Given the description of an element on the screen output the (x, y) to click on. 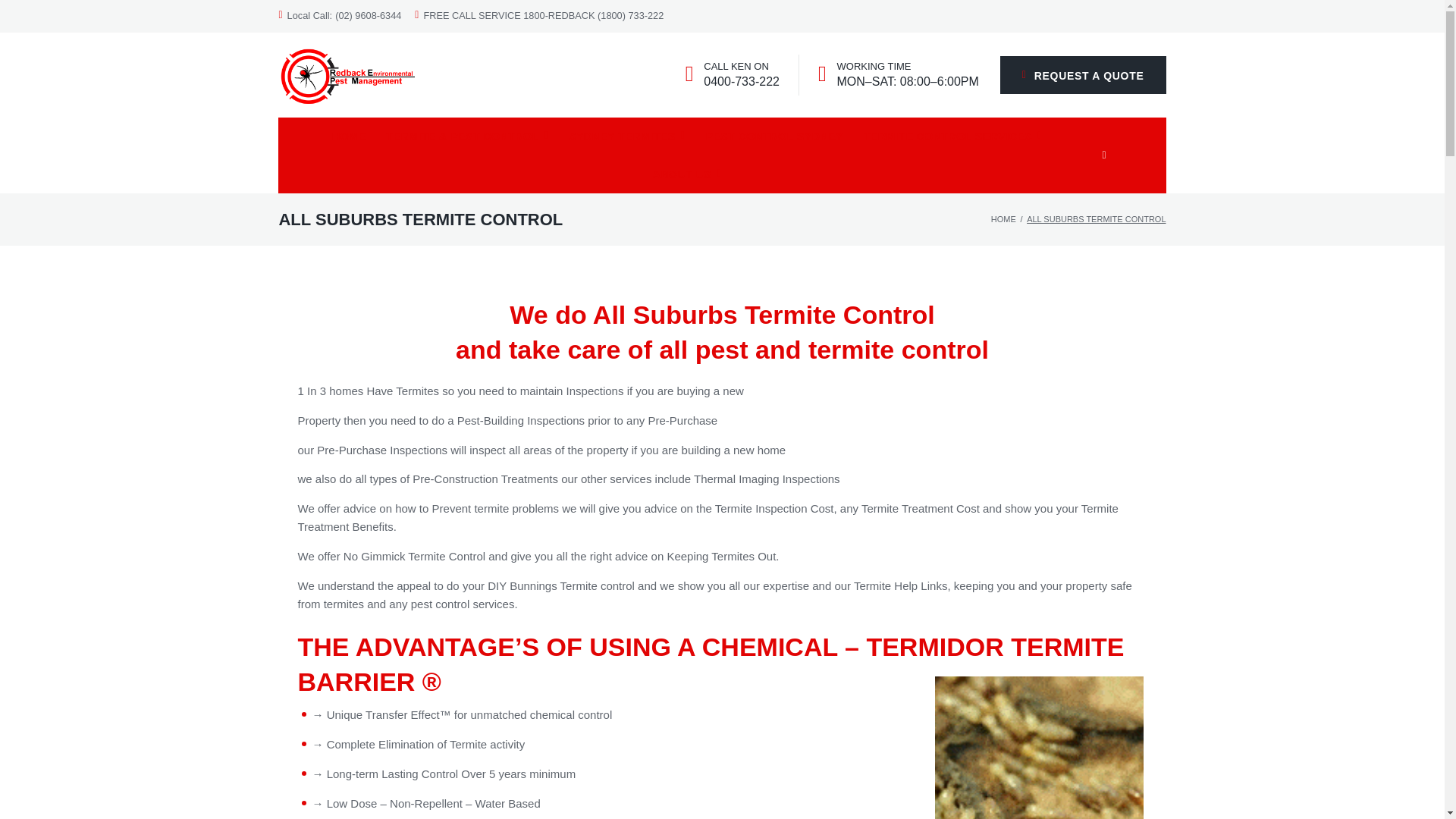
REQUEST A QUOTE (1083, 75)
HOME (348, 136)
Home (1003, 218)
0400-733-222 (740, 81)
SYDNEY TERMITES (625, 136)
